Given the description of an element on the screen output the (x, y) to click on. 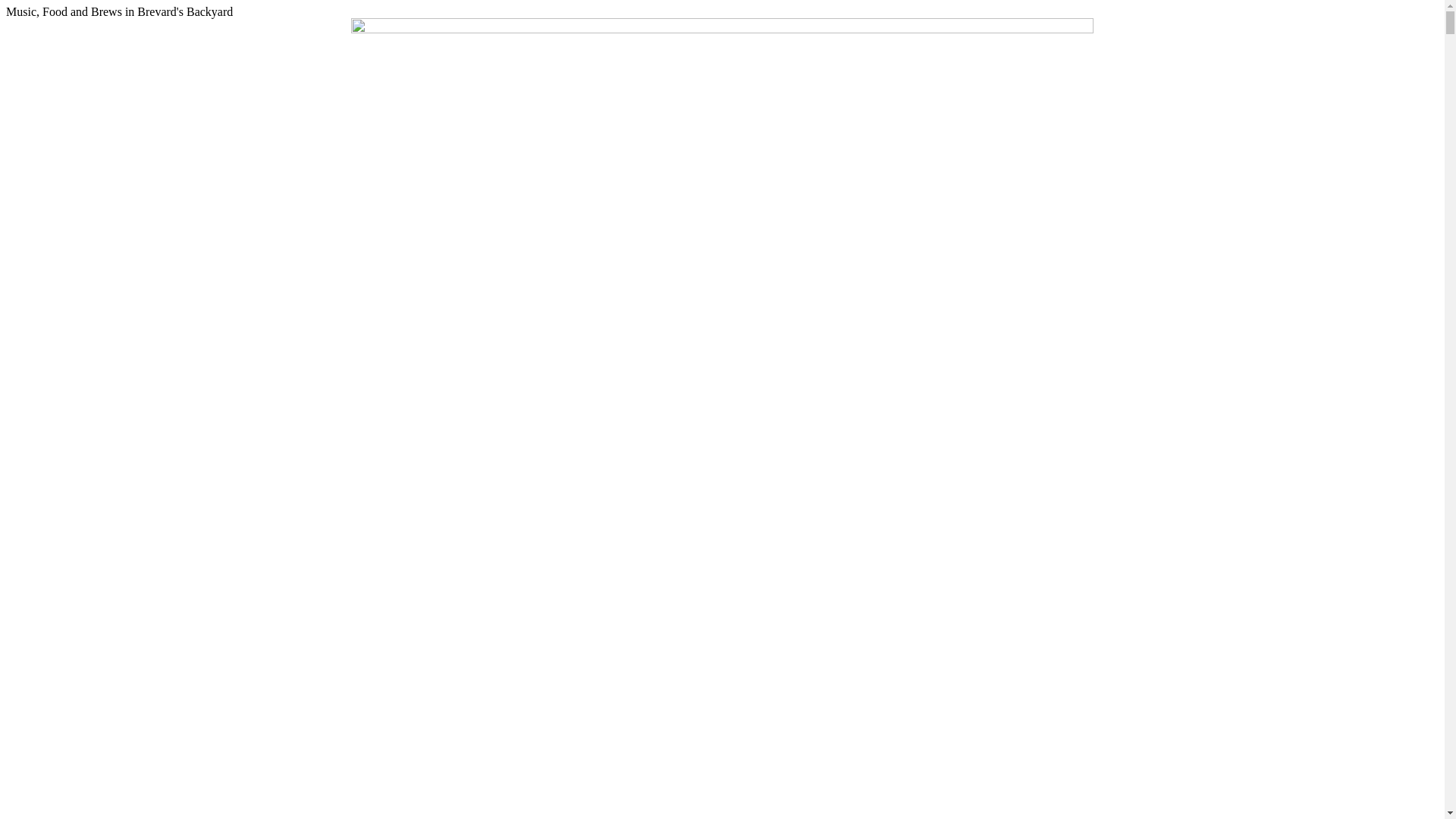
Skip to content Element type: text (5, 5)
